Given the description of an element on the screen output the (x, y) to click on. 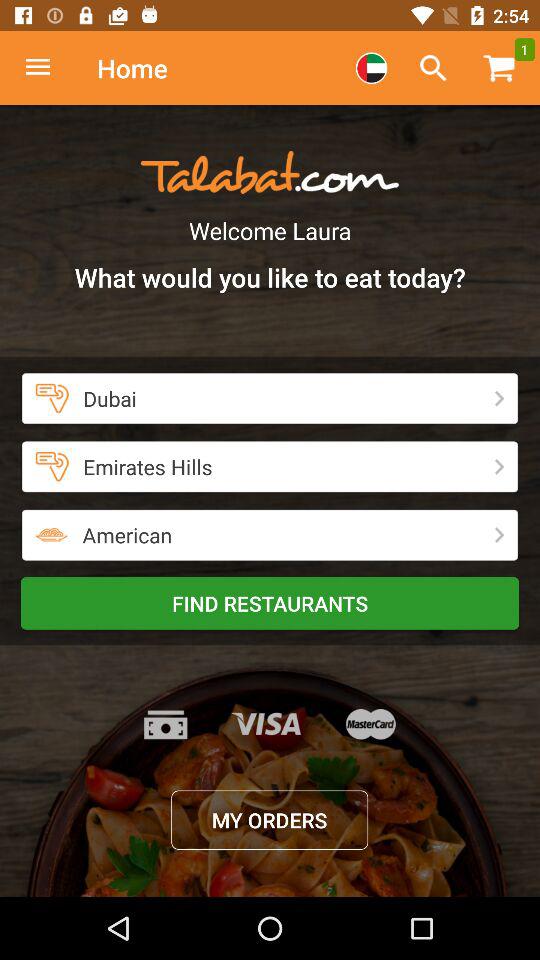
country flag (371, 68)
